Given the description of an element on the screen output the (x, y) to click on. 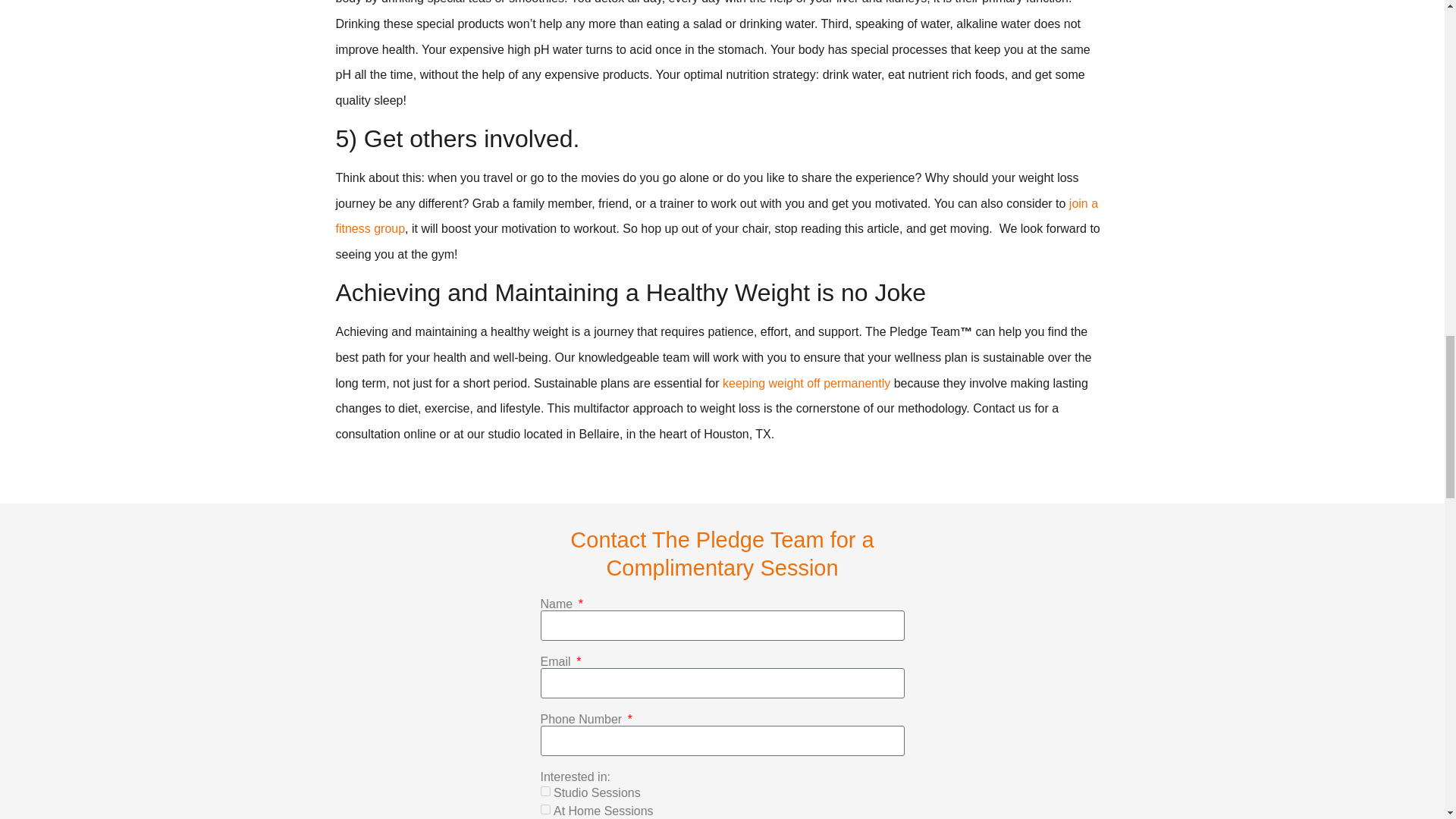
At Home Sessions (545, 809)
Studio Sessions (545, 791)
